Given the description of an element on the screen output the (x, y) to click on. 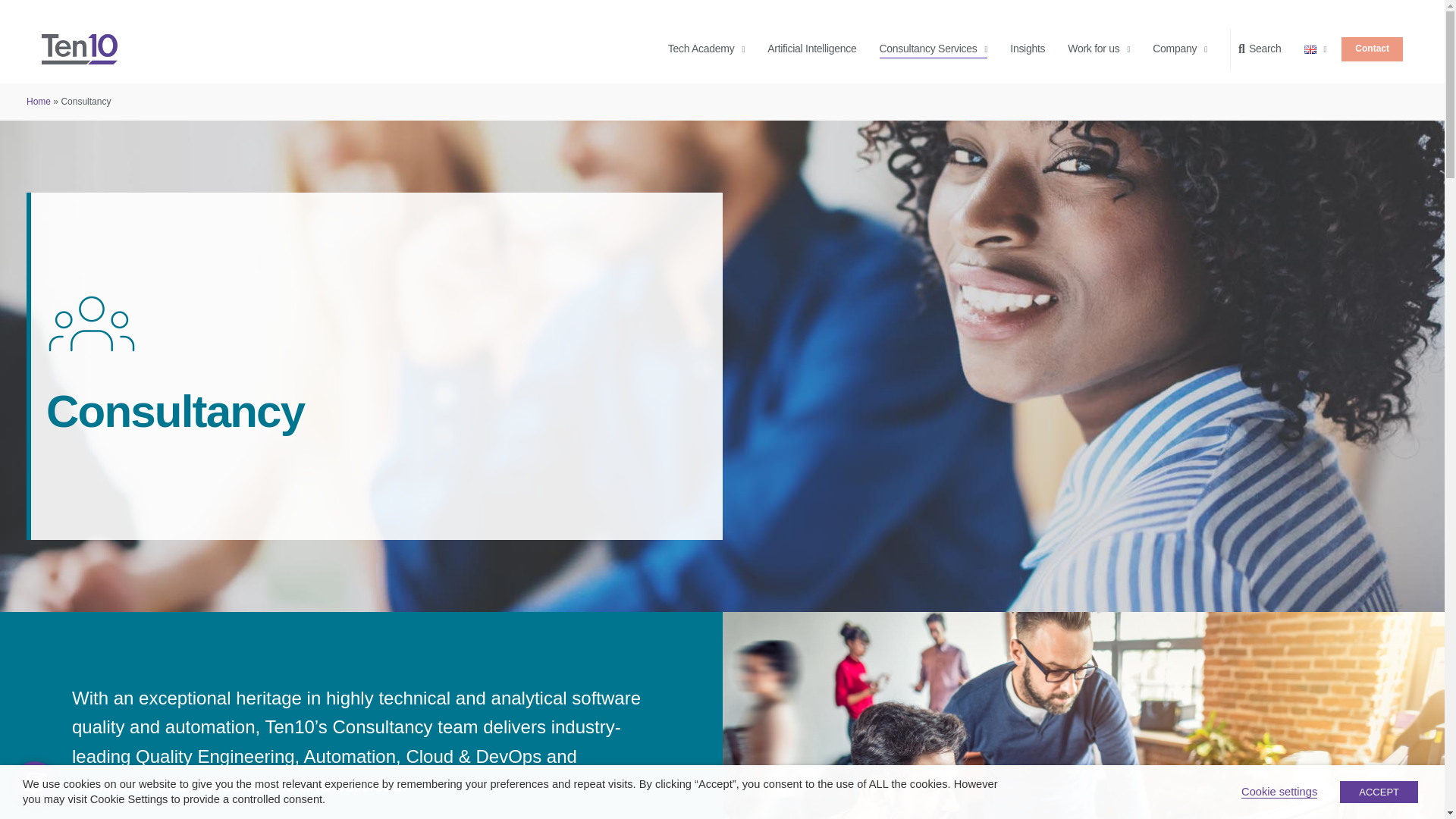
Consultancy Services (933, 48)
Artificial Intelligence (811, 48)
Contact (1371, 48)
Work for us (1098, 48)
Search (1265, 48)
Ten10 (79, 49)
Facebook (1347, 622)
icon-team-green-2 (91, 323)
Contact (1371, 48)
Company (1180, 48)
Insights (1027, 48)
Tech Academy (706, 48)
Home (38, 101)
